Given the description of an element on the screen output the (x, y) to click on. 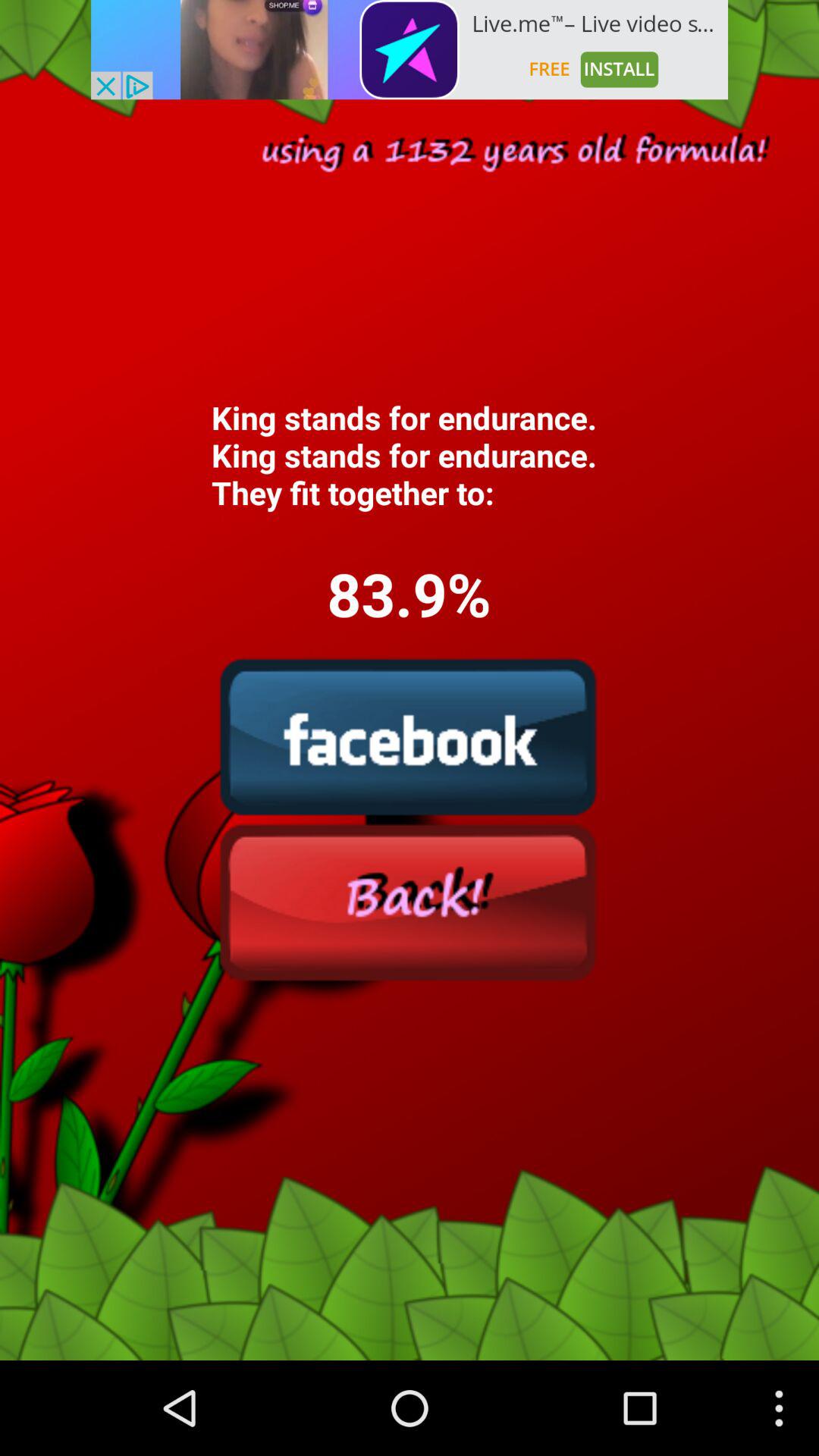
share on facebook (408, 736)
